Given the description of an element on the screen output the (x, y) to click on. 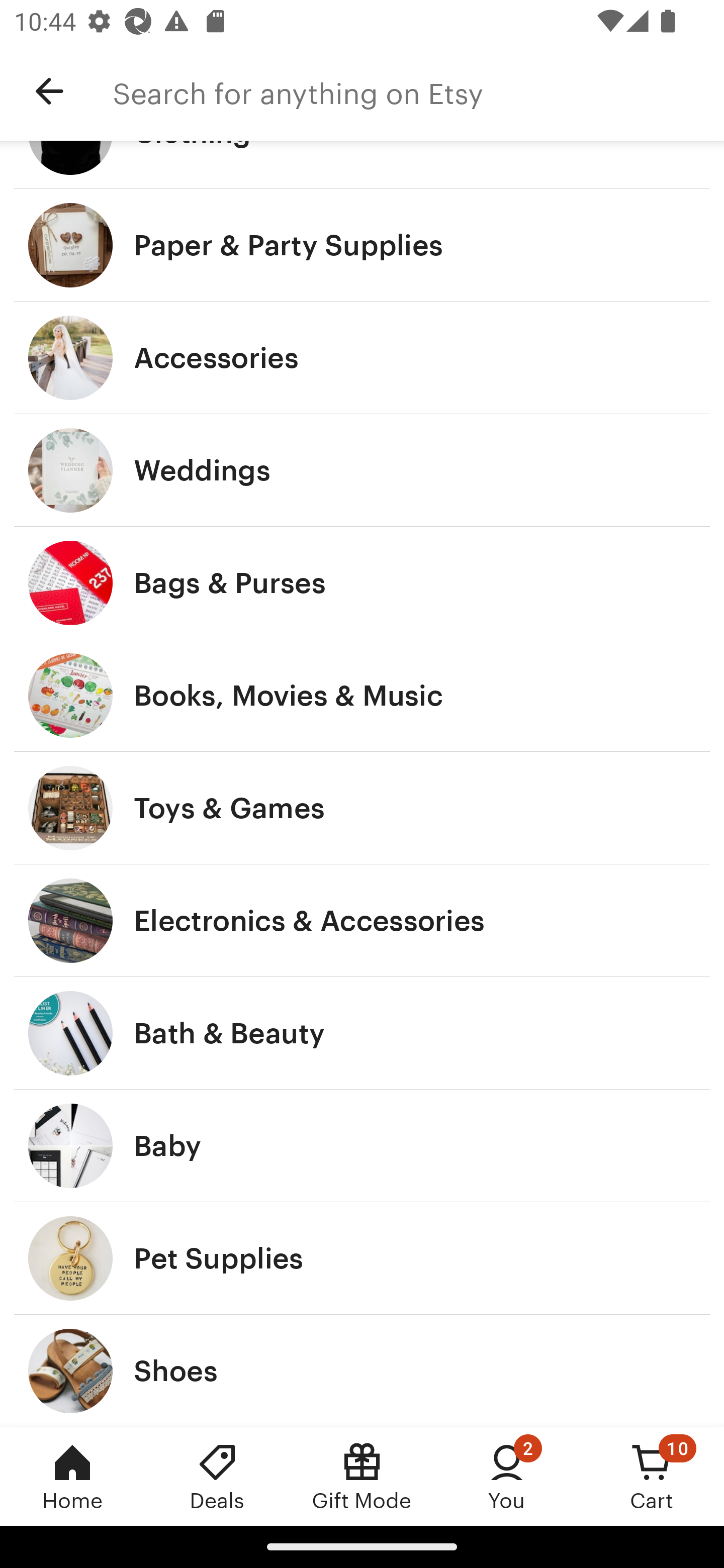
Navigate up (49, 91)
Search for anything on Etsy (418, 91)
Paper & Party Supplies (361, 245)
Accessories (361, 357)
Weddings (361, 469)
Bags & Purses (361, 582)
Books, Movies & Music (361, 695)
Toys & Games (361, 807)
Electronics & Accessories (361, 919)
Bath & Beauty (361, 1032)
Baby (361, 1145)
Pet Supplies (361, 1257)
Shoes (361, 1369)
Deals (216, 1475)
Gift Mode (361, 1475)
You, 2 new notifications You (506, 1475)
Cart, 10 new notifications Cart (651, 1475)
